Given the description of an element on the screen output the (x, y) to click on. 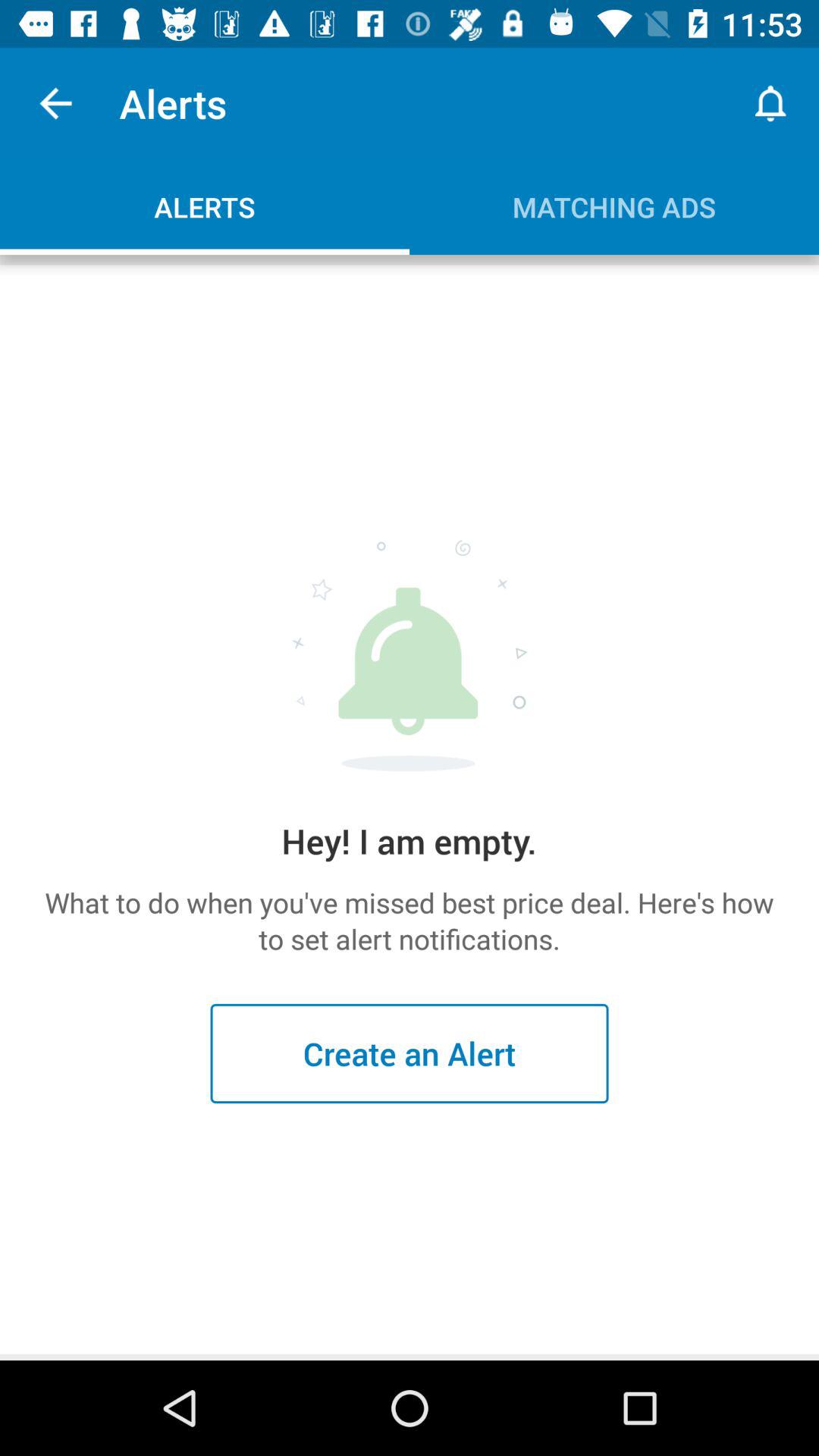
open the icon next to the alerts item (55, 103)
